Given the description of an element on the screen output the (x, y) to click on. 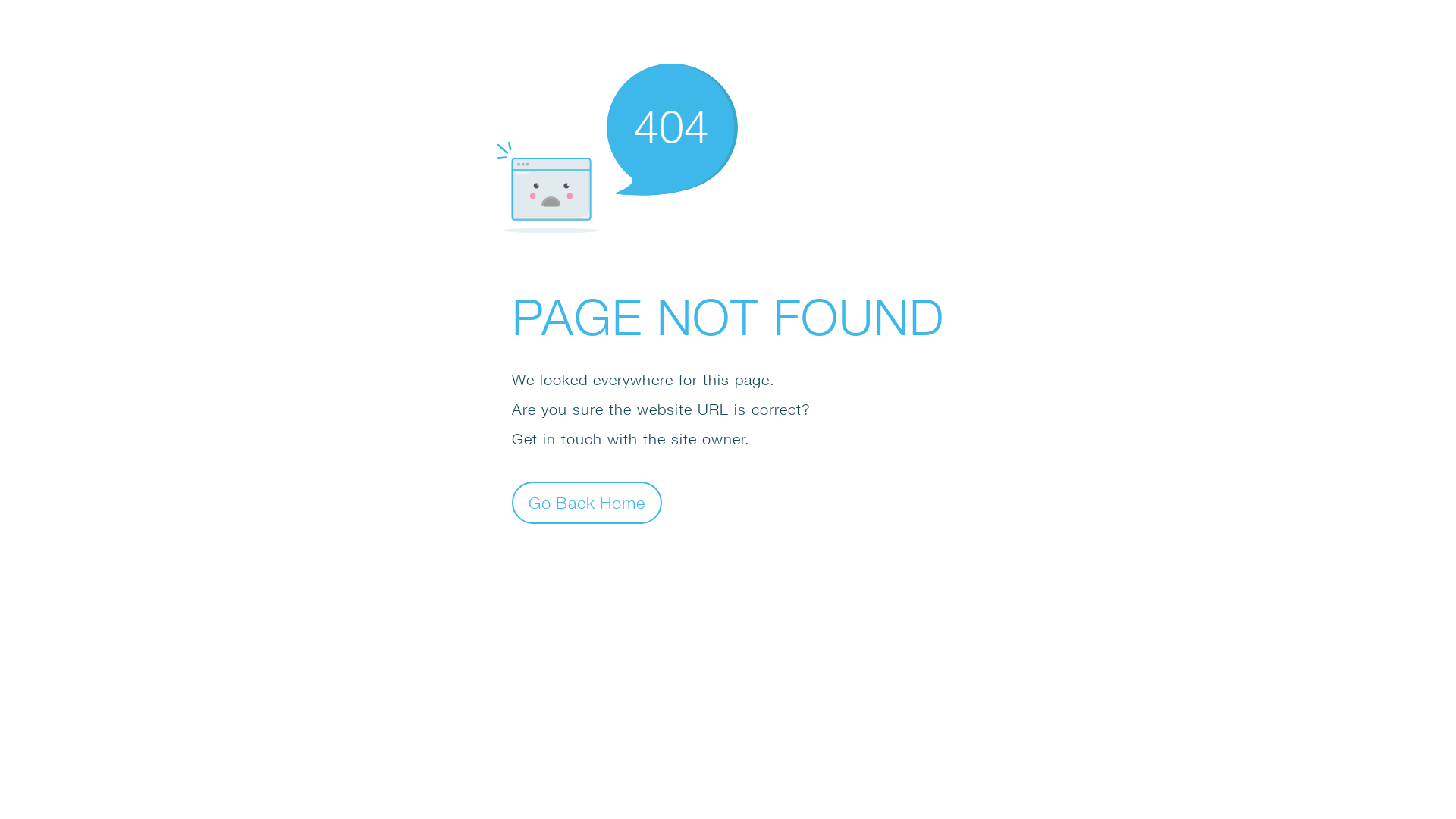
Go Back Home Element type: text (586, 502)
